Given the description of an element on the screen output the (x, y) to click on. 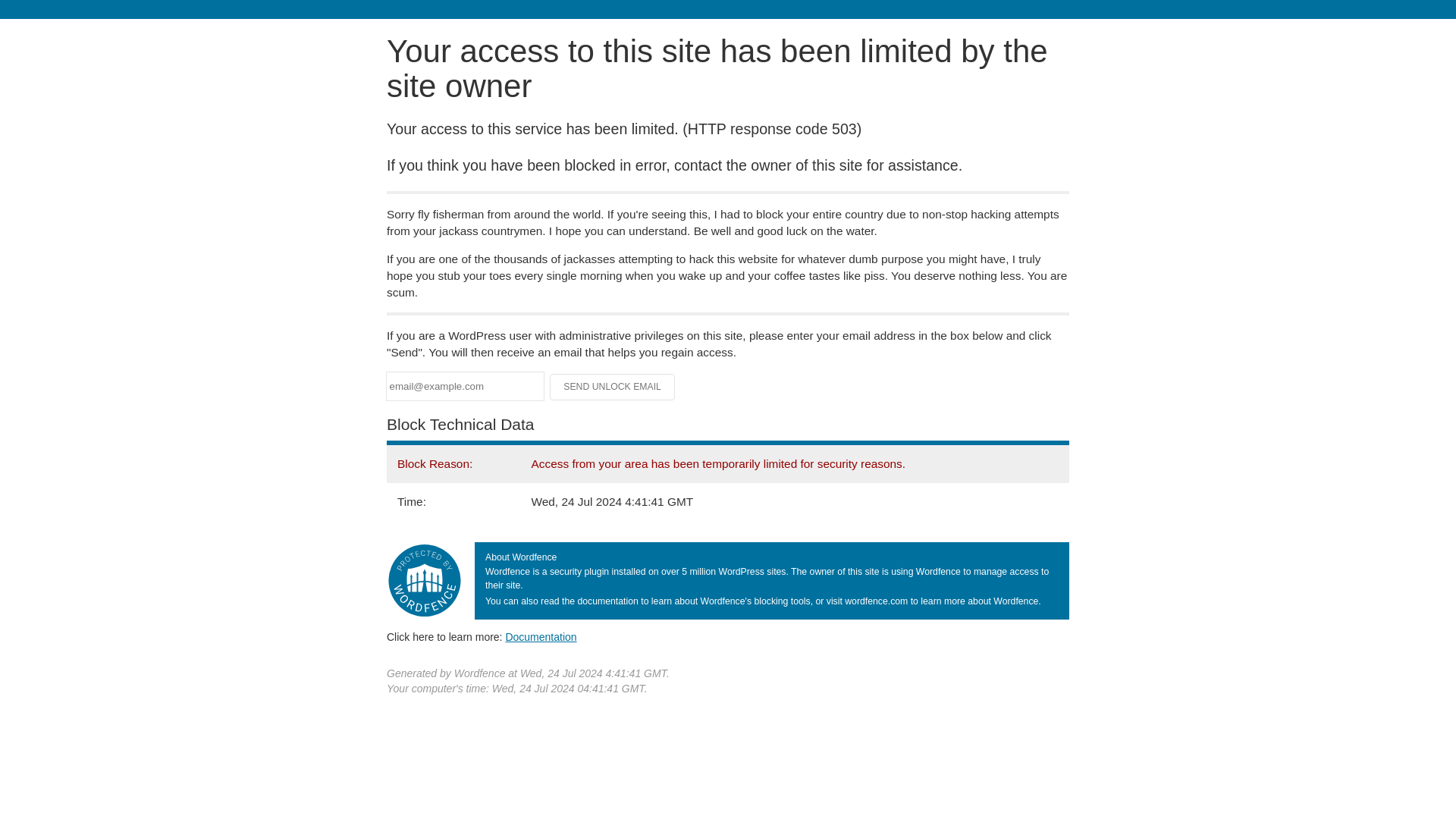
Documentation (540, 636)
Send Unlock Email (612, 386)
Send Unlock Email (612, 386)
